Given the description of an element on the screen output the (x, y) to click on. 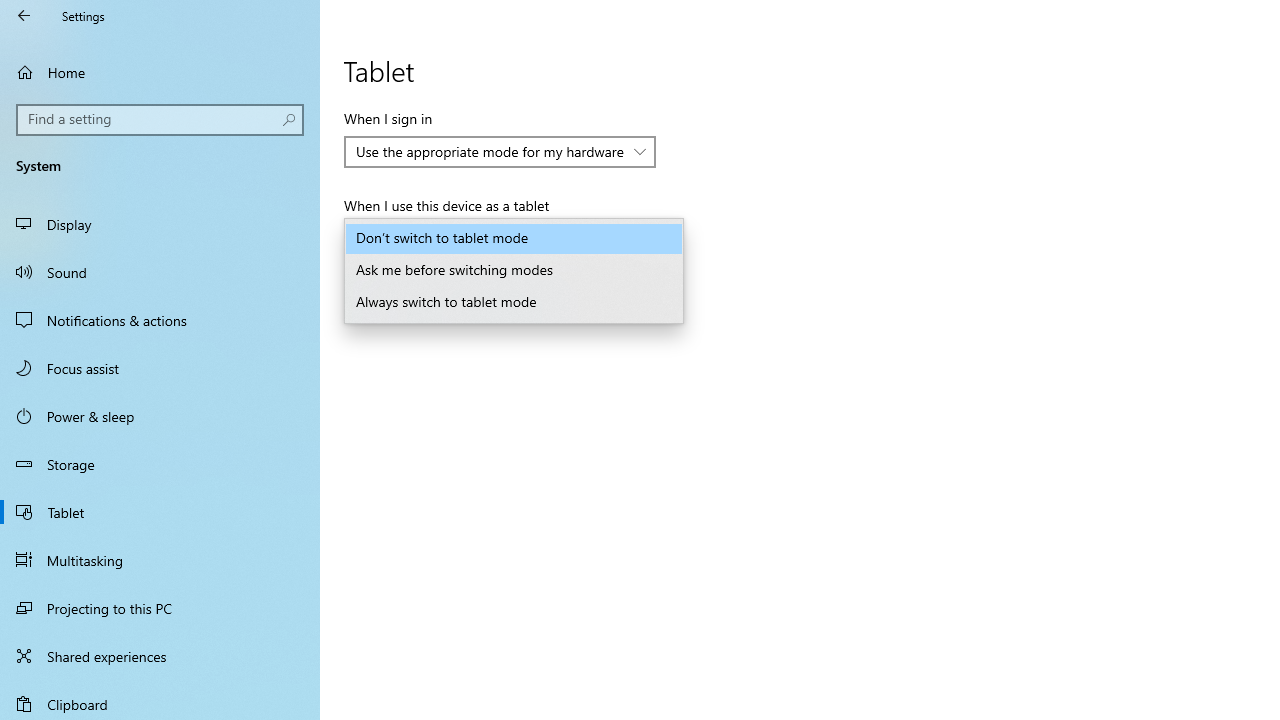
Sound (160, 271)
Multitasking (160, 559)
Ask me before switching modes (514, 270)
Display (160, 223)
Use the appropriate mode for my hardware (489, 151)
When I sign in (499, 151)
Tablet (160, 511)
Projecting to this PC (160, 607)
Back (24, 15)
Storage (160, 463)
Power & sleep (160, 415)
Shared experiences (160, 655)
Change additional tablet settings (446, 291)
Always switch to tablet mode (514, 302)
